Given the description of an element on the screen output the (x, y) to click on. 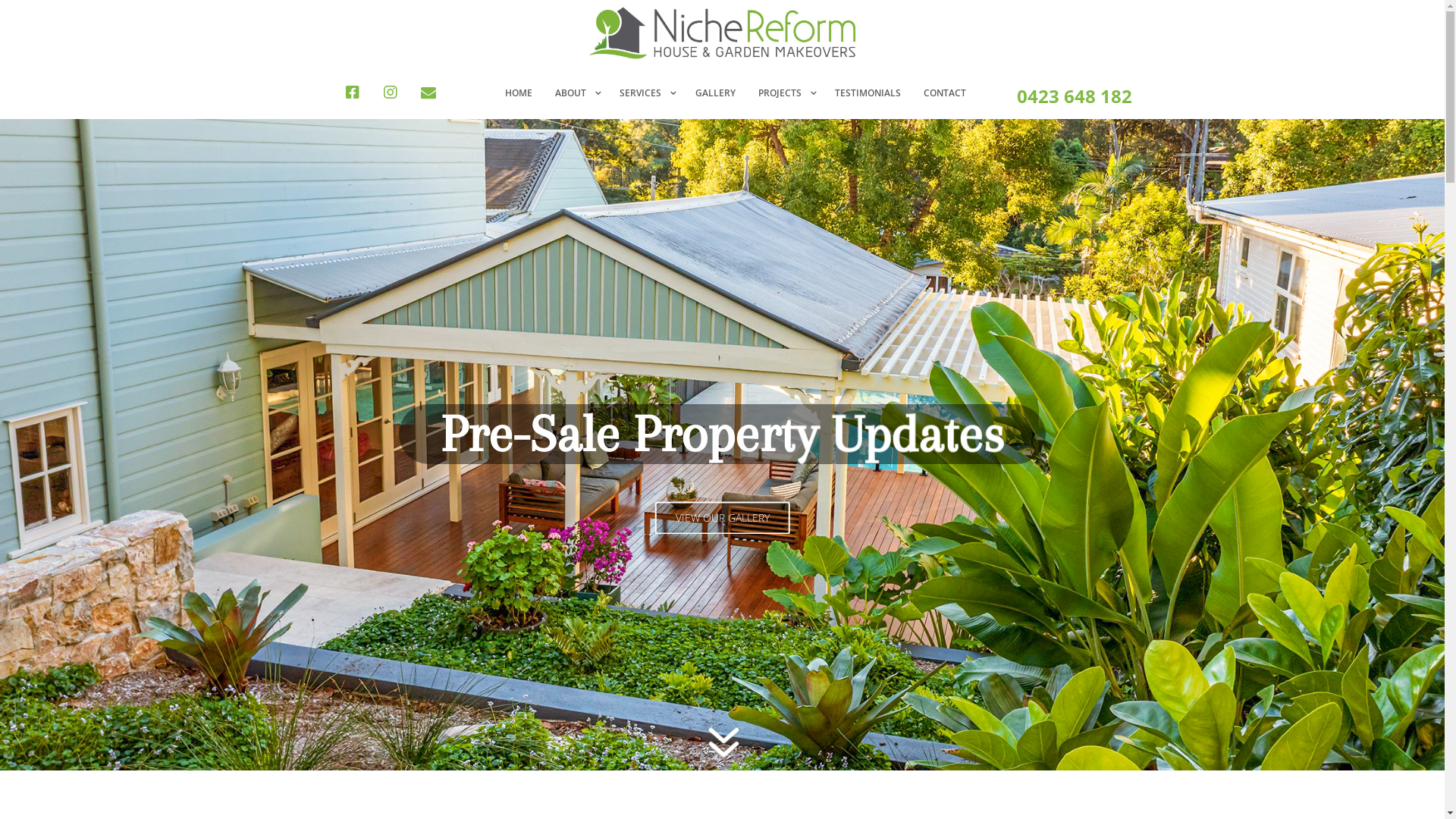
VIEW OUR GALLERY Element type: text (722, 517)
HOME Element type: text (518, 92)
ABOUT Element type: text (576, 92)
GALLERY Element type: text (715, 92)
0423 648 182 Element type: text (1073, 95)
PROJECTS Element type: text (785, 92)
TESTIMONIALS Element type: text (867, 92)
Icon group item Element type: hover (352, 92)
Icon group item Element type: hover (428, 92)
CONTACT Element type: text (944, 92)
SERVICES Element type: text (645, 92)
Icon group item Element type: hover (390, 92)
